Given the description of an element on the screen output the (x, y) to click on. 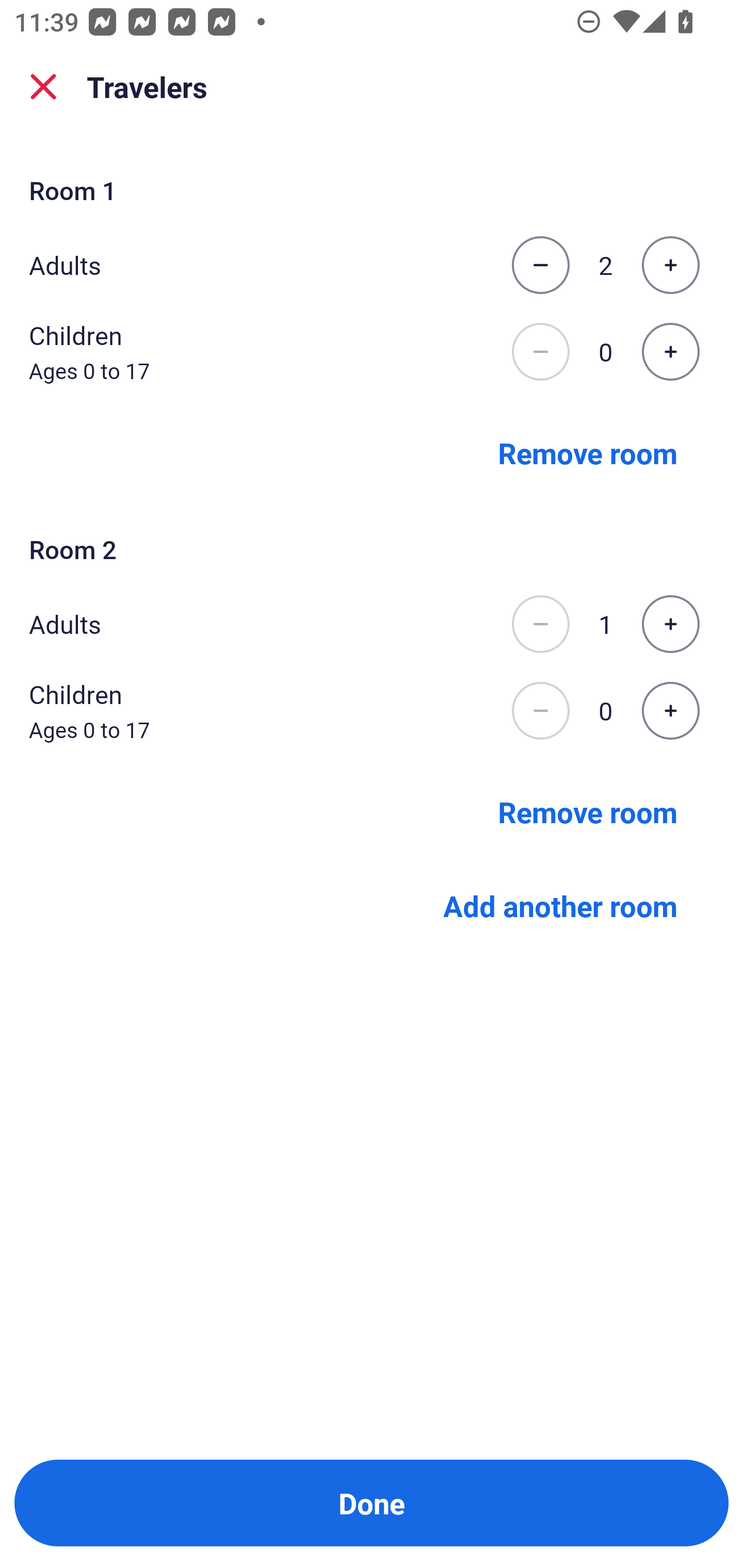
close (43, 86)
Decrease the number of adults (540, 264)
Increase the number of adults (670, 264)
Decrease the number of children (540, 351)
Increase the number of children (670, 351)
Remove room (588, 452)
Decrease the number of adults (540, 623)
Increase the number of adults (670, 623)
Decrease the number of children (540, 710)
Increase the number of children (670, 710)
Remove room (588, 811)
Add another room (560, 905)
Done (371, 1502)
